Given the description of an element on the screen output the (x, y) to click on. 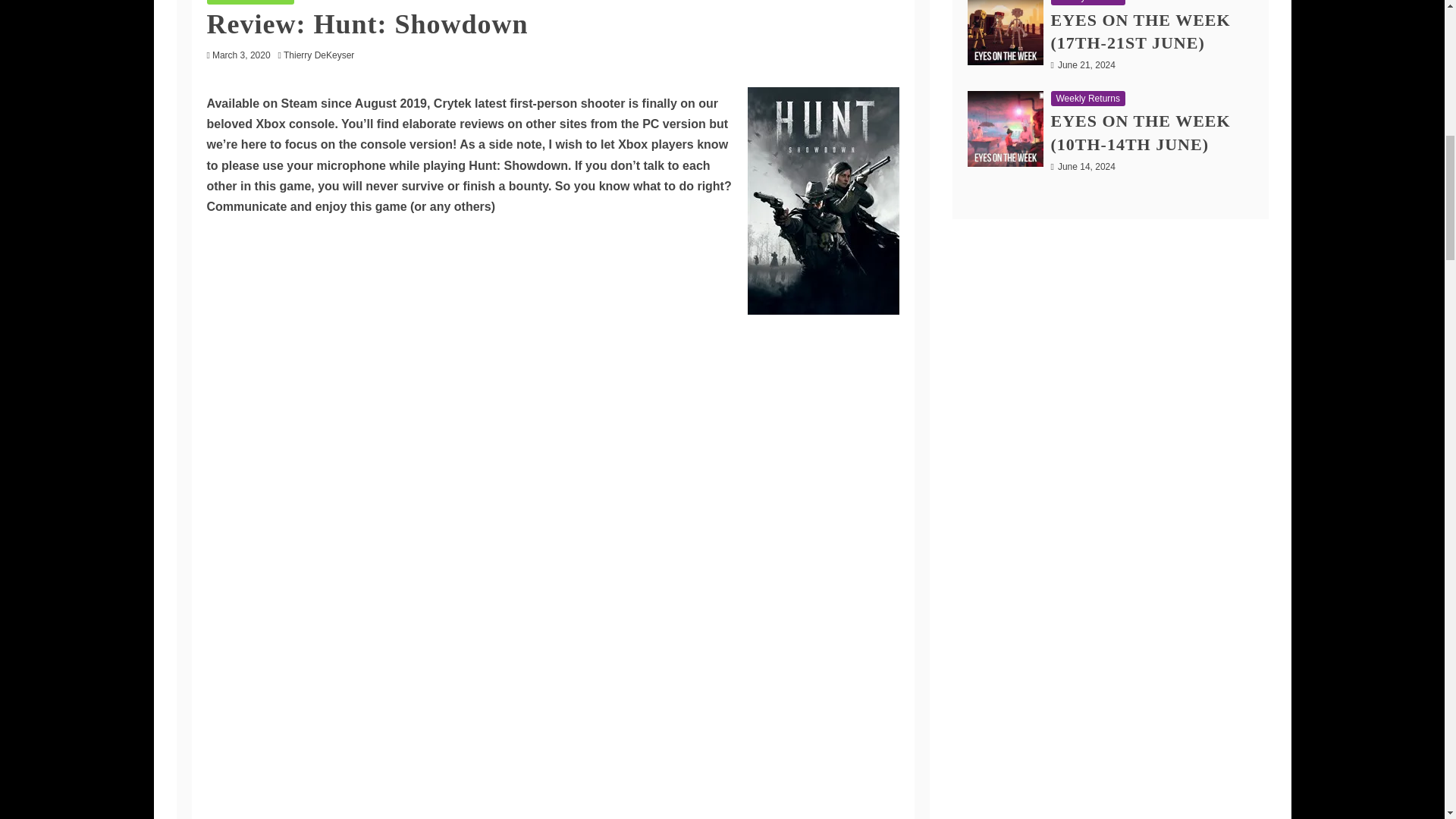
Thierry DeKeyser (322, 54)
March 3, 2020 (241, 54)
Xbox Reviews (250, 2)
